Given the description of an element on the screen output the (x, y) to click on. 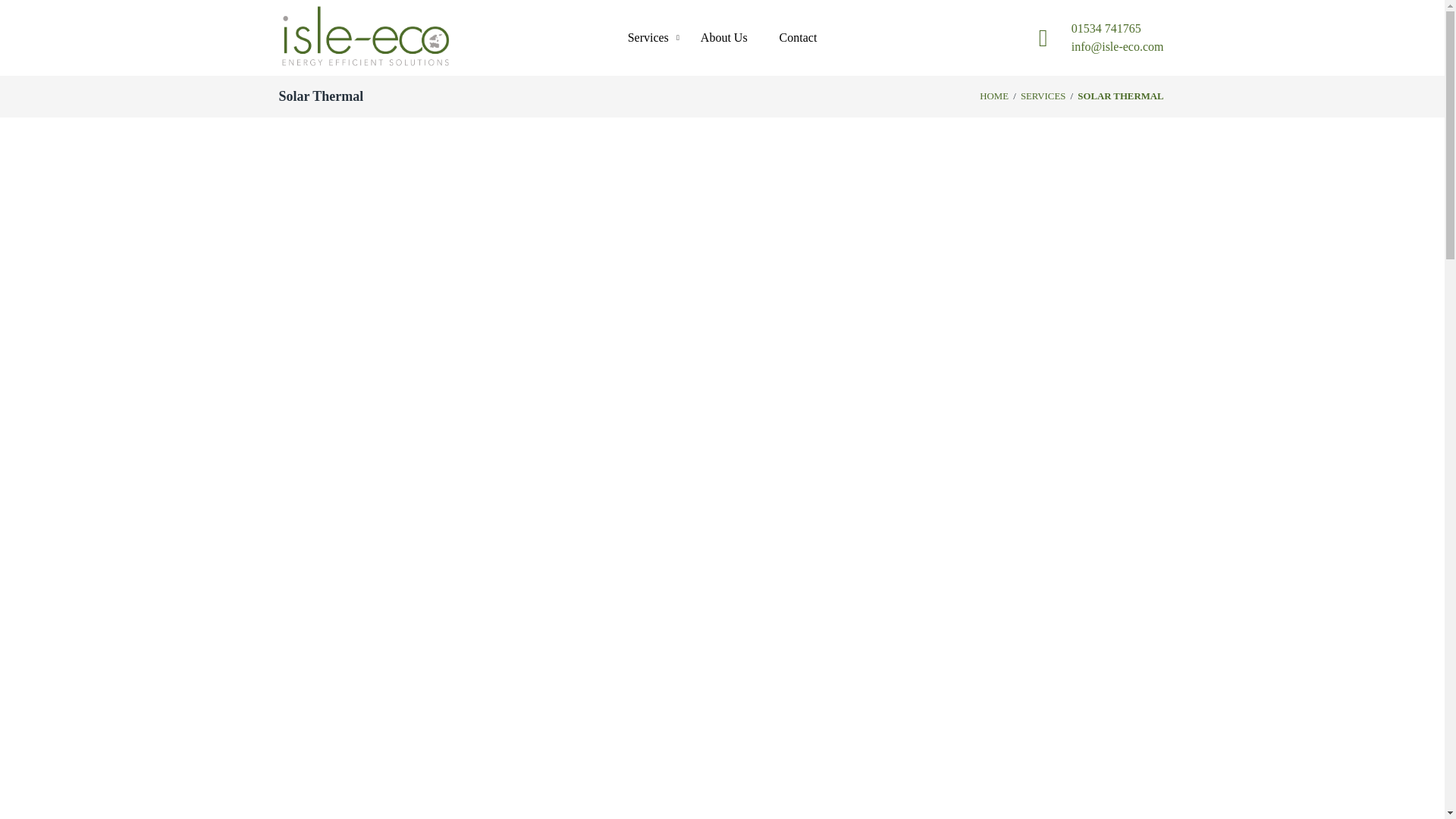
Contact (798, 37)
Services (648, 37)
About Us (724, 37)
